Given the description of an element on the screen output the (x, y) to click on. 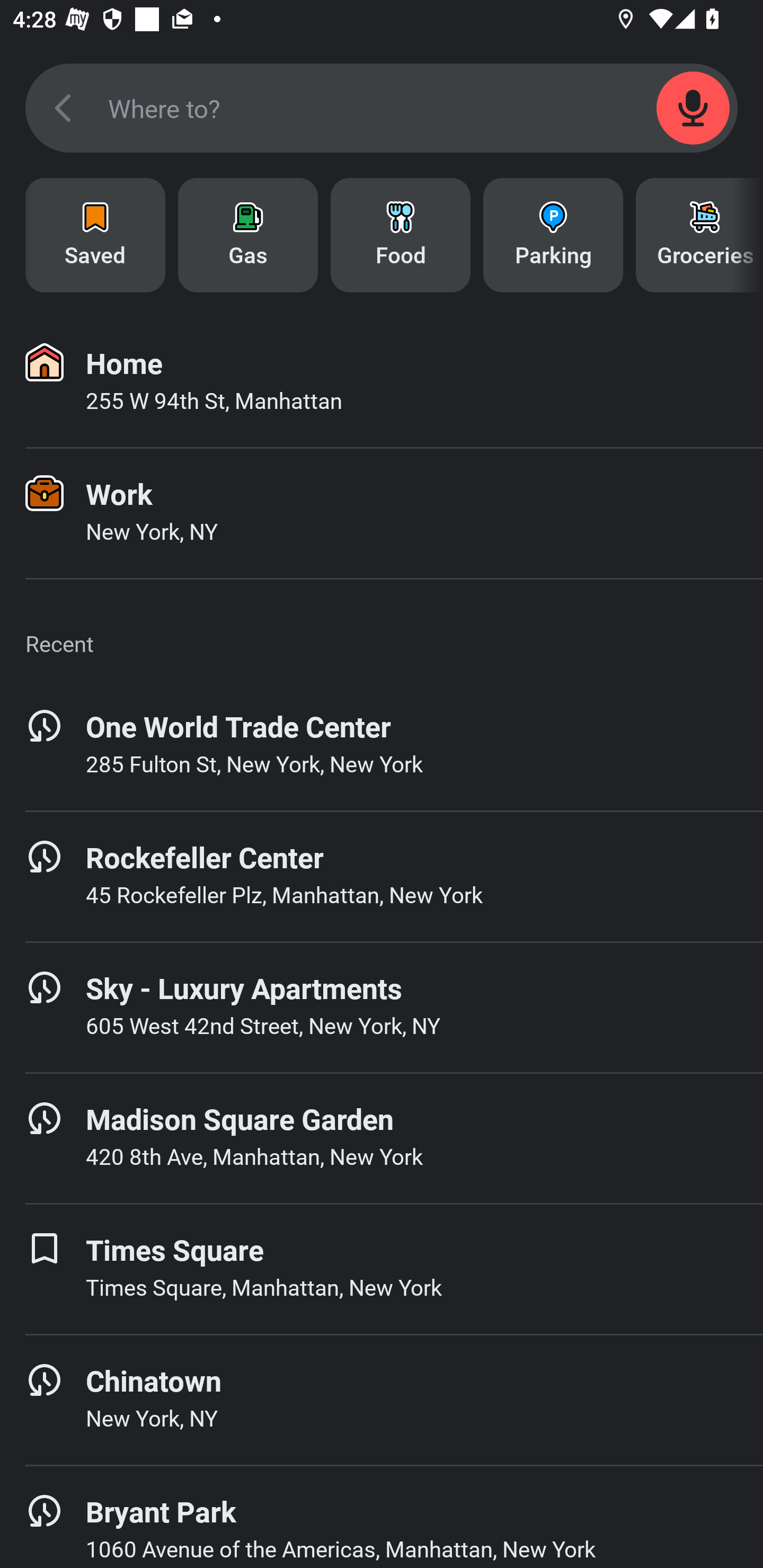
SEARCH_SCREEN_SEARCH_FIELD Where to? (381, 108)
Saved (95, 234)
Gas (247, 234)
Food (400, 234)
Parking (552, 234)
Groceries (699, 234)
Home 255 W 94th St, Manhattan (381, 382)
Work New York, NY (381, 513)
Times Square Times Square, Manhattan, New York (381, 1269)
Chinatown New York, NY (381, 1399)
